Given the description of an element on the screen output the (x, y) to click on. 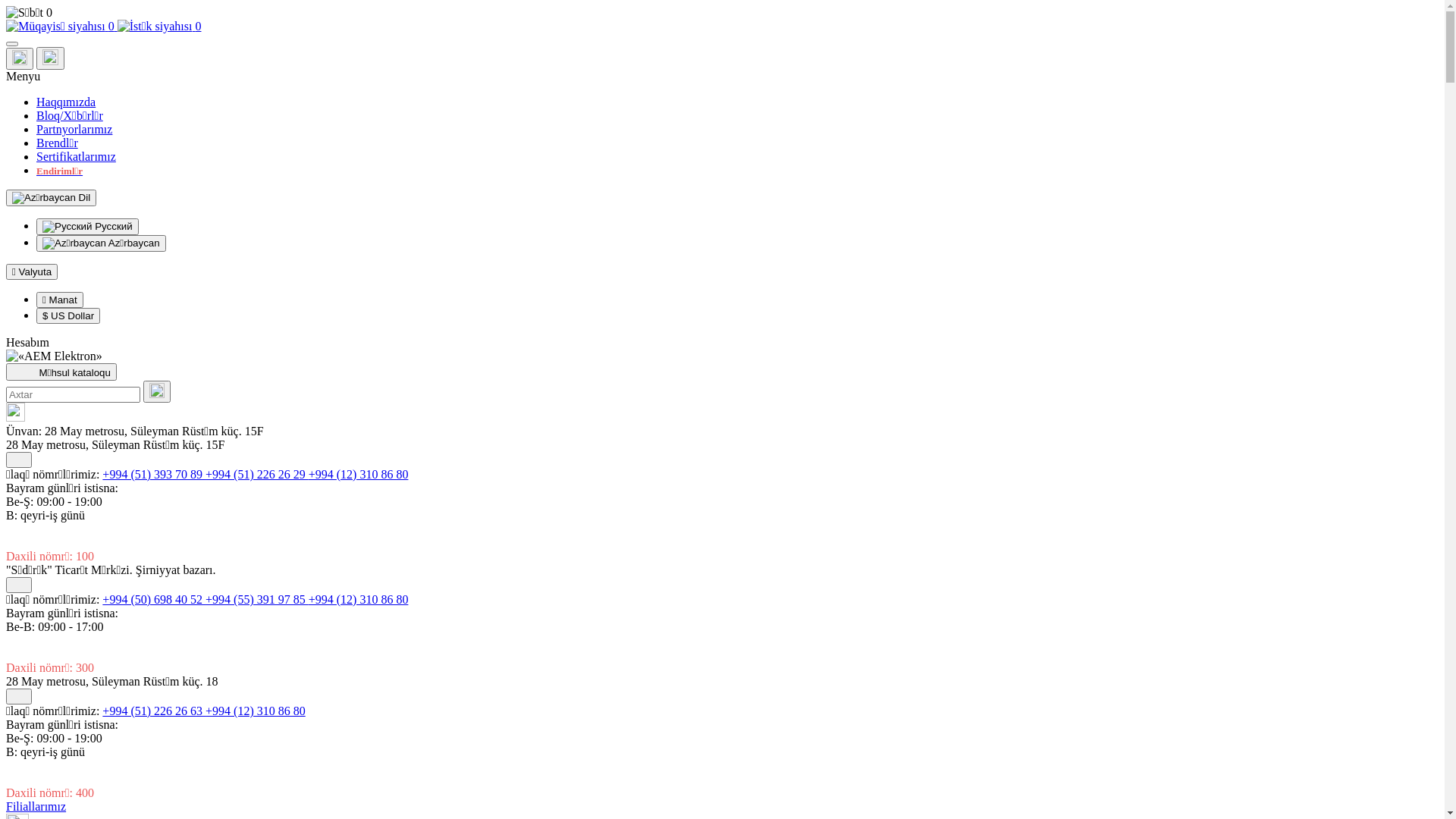
+994 (12) 310 86 80 Element type: text (358, 473)
+994 (12) 310 86 80 Element type: text (255, 710)
$ US Dollar Element type: text (68, 315)
+994 (51) 226 26 29 Element type: text (256, 473)
+994 (51) 226 26 63 Element type: text (153, 710)
Dil Element type: text (51, 197)
0 Element type: text (159, 25)
+994 (51) 393 70 89 Element type: text (153, 473)
0 Element type: text (61, 25)
+994 (55) 391 97 85 Element type: text (256, 599)
+994 (50) 698 40 52 Element type: text (153, 599)
0 Element type: text (722, 12)
+994 (12) 310 86 80 Element type: text (358, 599)
